Given the description of an element on the screen output the (x, y) to click on. 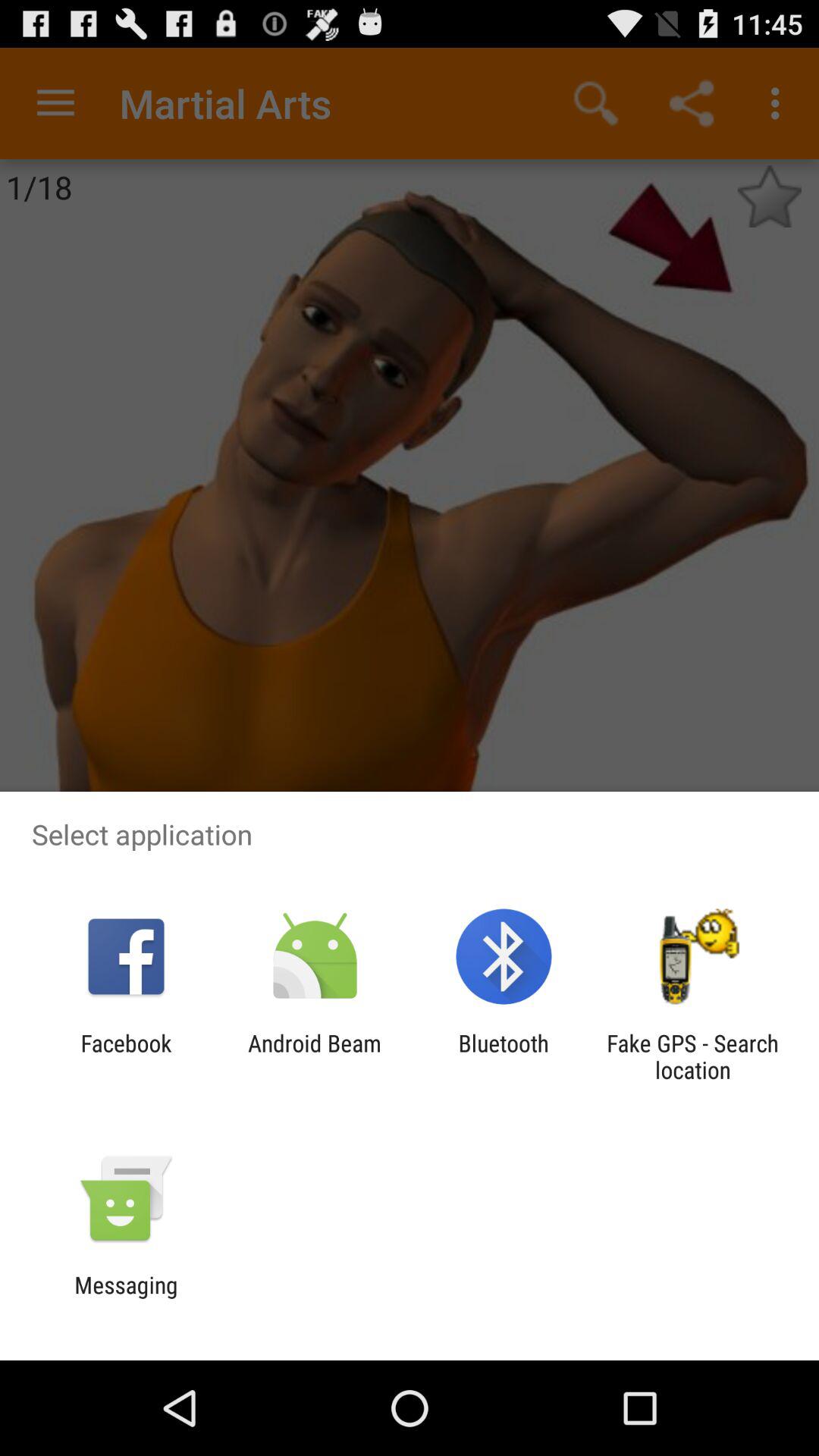
press item to the left of the fake gps search app (503, 1056)
